Given the description of an element on the screen output the (x, y) to click on. 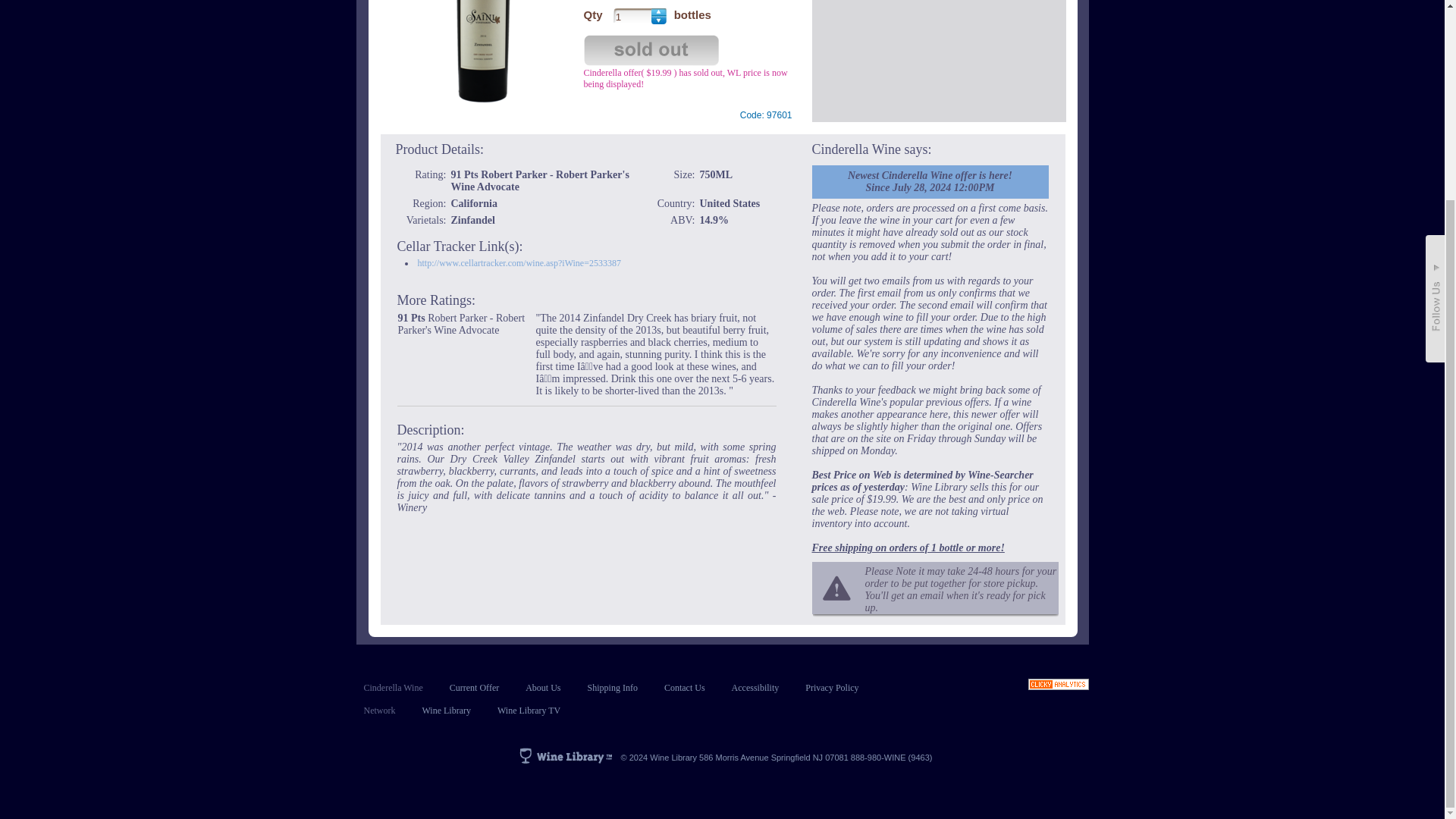
Current Offer (474, 687)
Accessibility (755, 687)
Wine Library TV (528, 710)
Contact Us (683, 687)
Privacy Policy (832, 687)
Contact Us (683, 687)
1 (631, 15)
This item is sold out! (651, 51)
Current Offer (474, 687)
Privacy Policy (832, 687)
Shipping Info (612, 687)
Web Statistics (1058, 685)
Wine Librarys daily video blog. (528, 710)
Wine Library (446, 710)
About Us (542, 687)
